Given the description of an element on the screen output the (x, y) to click on. 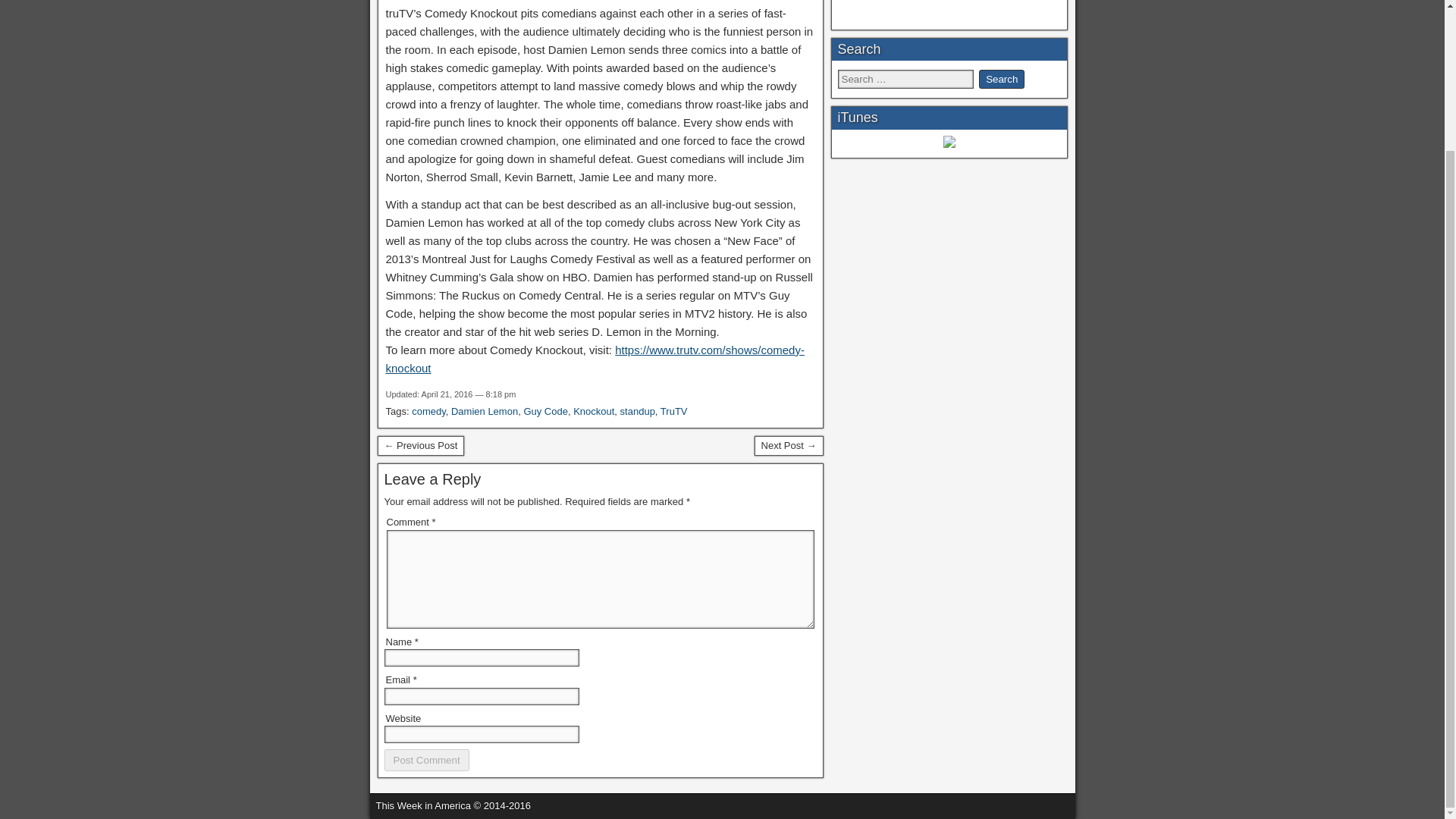
standup (637, 410)
Post Comment (426, 760)
Search (1001, 78)
Guy Code (544, 410)
comedy (428, 410)
TruTV (674, 410)
Search (1001, 78)
Knockout (593, 410)
Post Comment (426, 760)
Damien Lemon (484, 410)
